Given the description of an element on the screen output the (x, y) to click on. 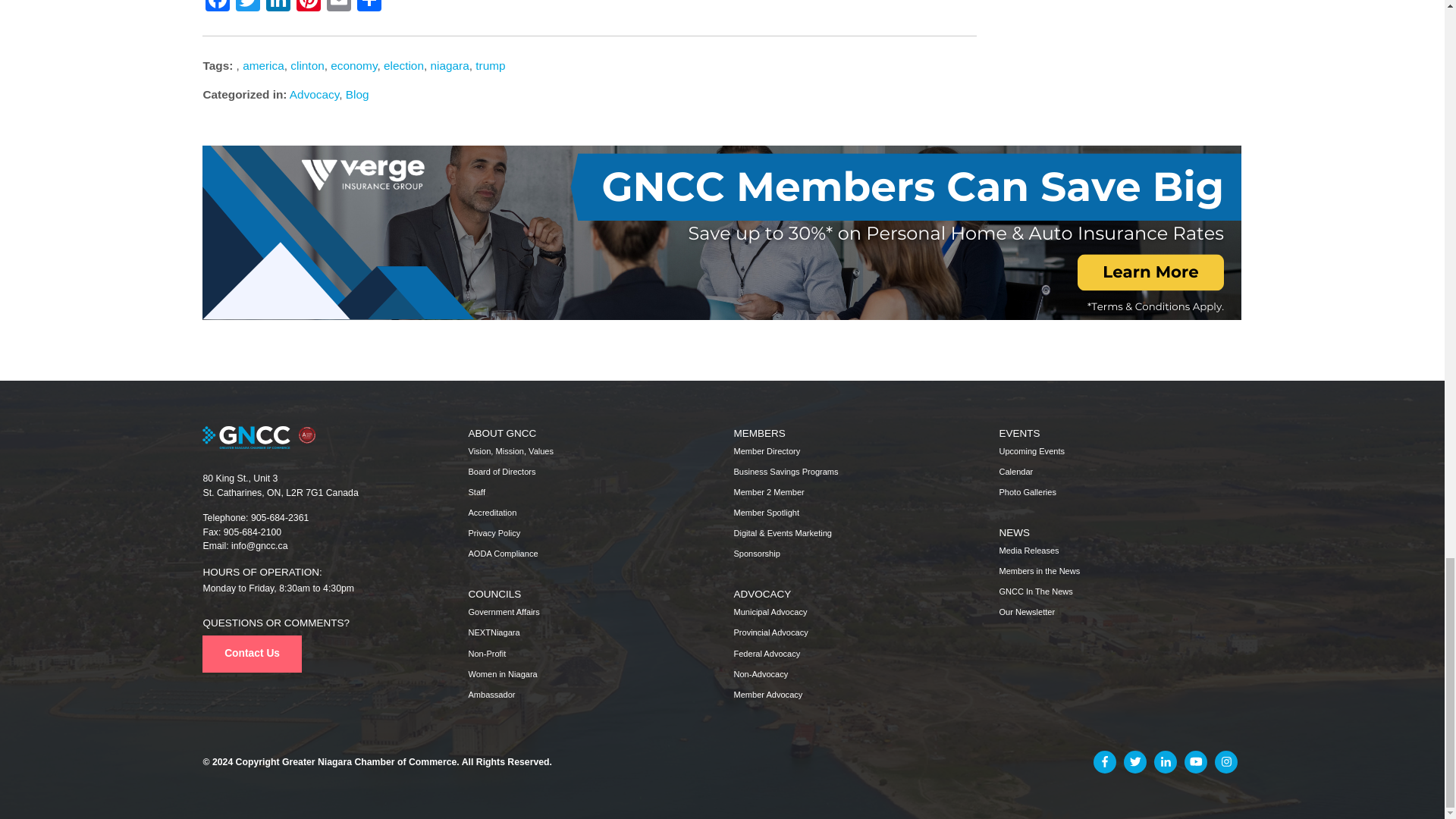
Pinterest (308, 7)
Twitter (247, 7)
Email (338, 7)
Facebook (217, 7)
LinkedIn (278, 7)
